Given the description of an element on the screen output the (x, y) to click on. 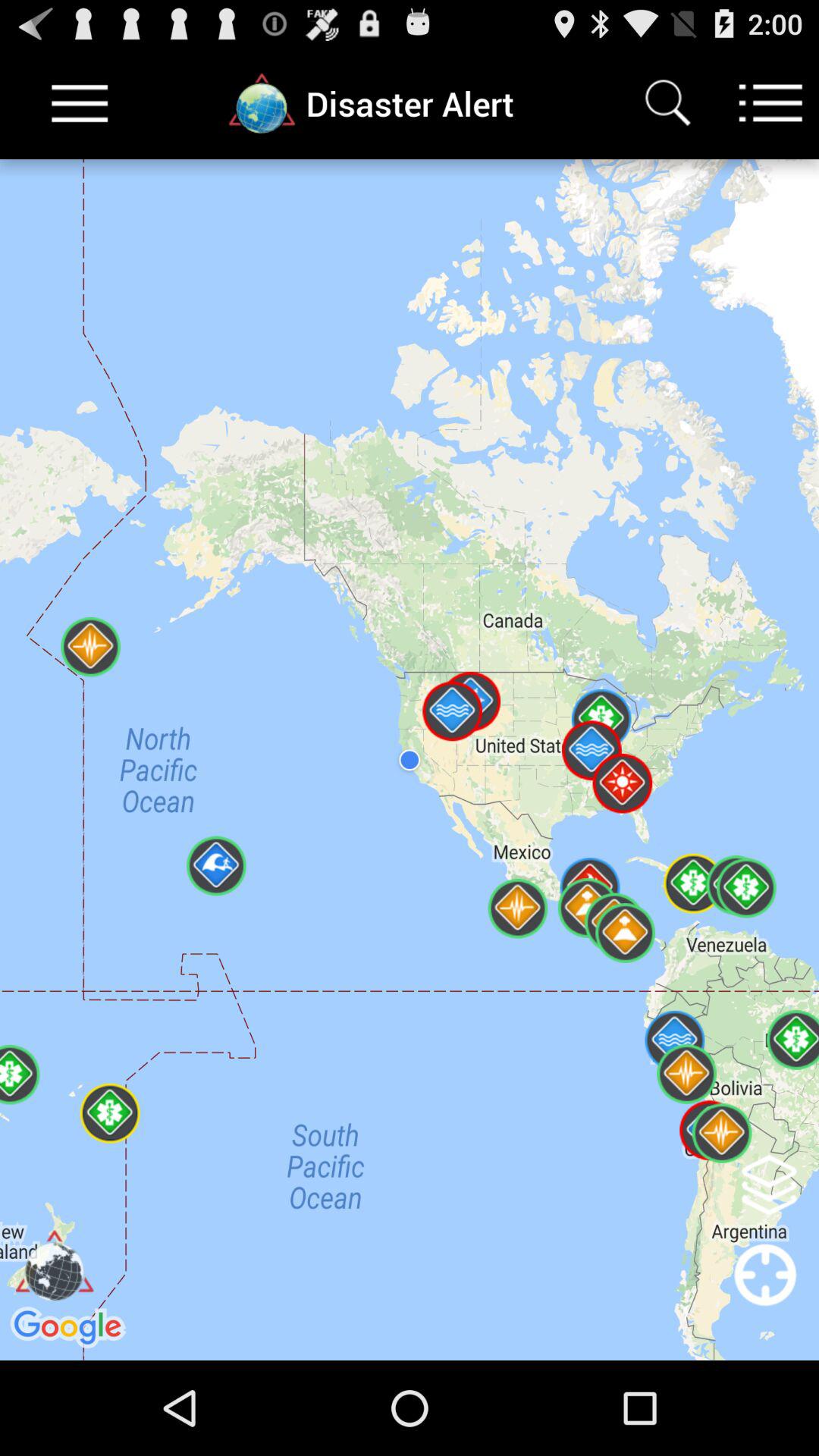
location option (765, 1294)
